Given the description of an element on the screen output the (x, y) to click on. 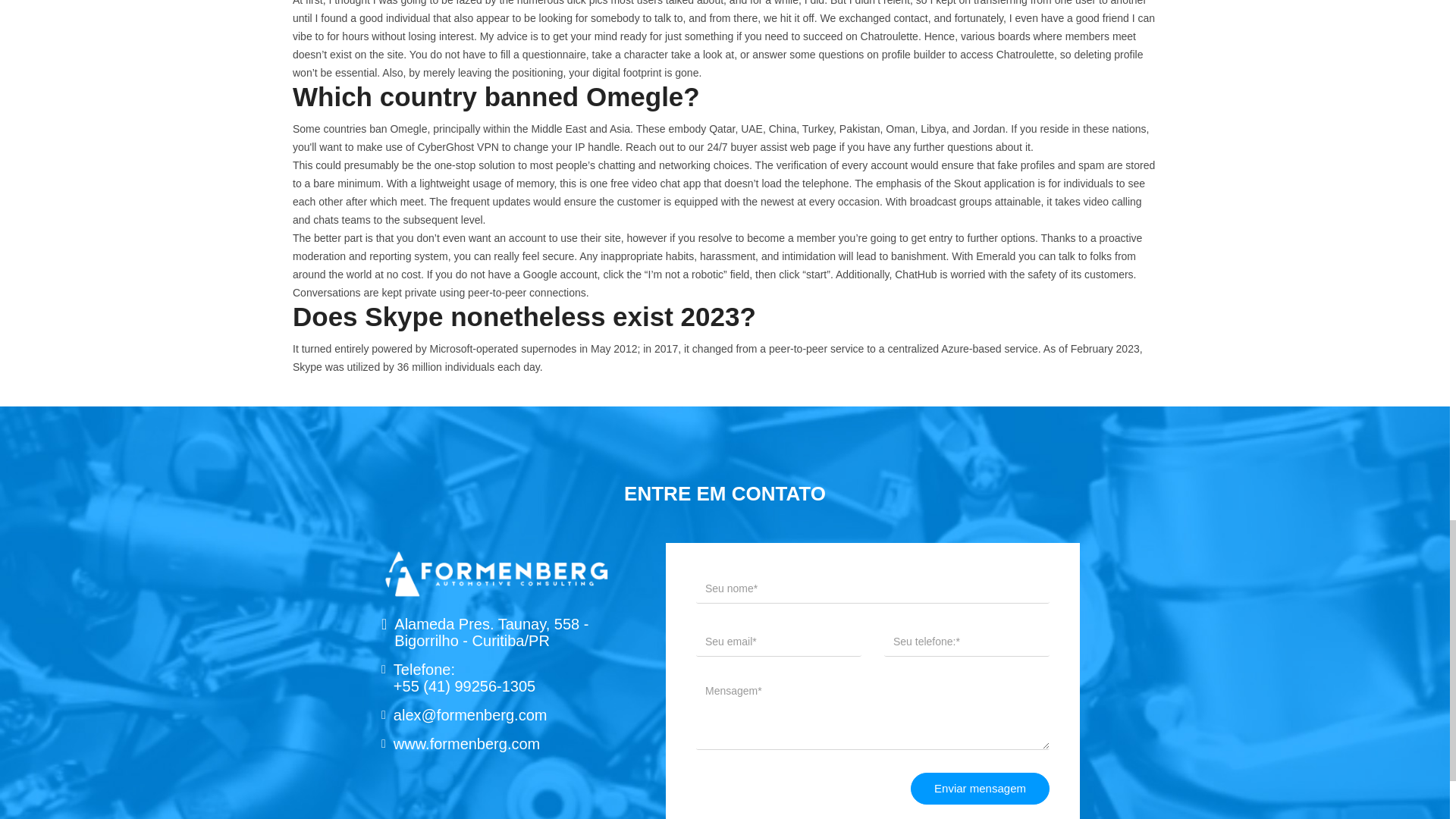
Enviar mensagem (980, 788)
www.formenberg.com (466, 743)
